Given the description of an element on the screen output the (x, y) to click on. 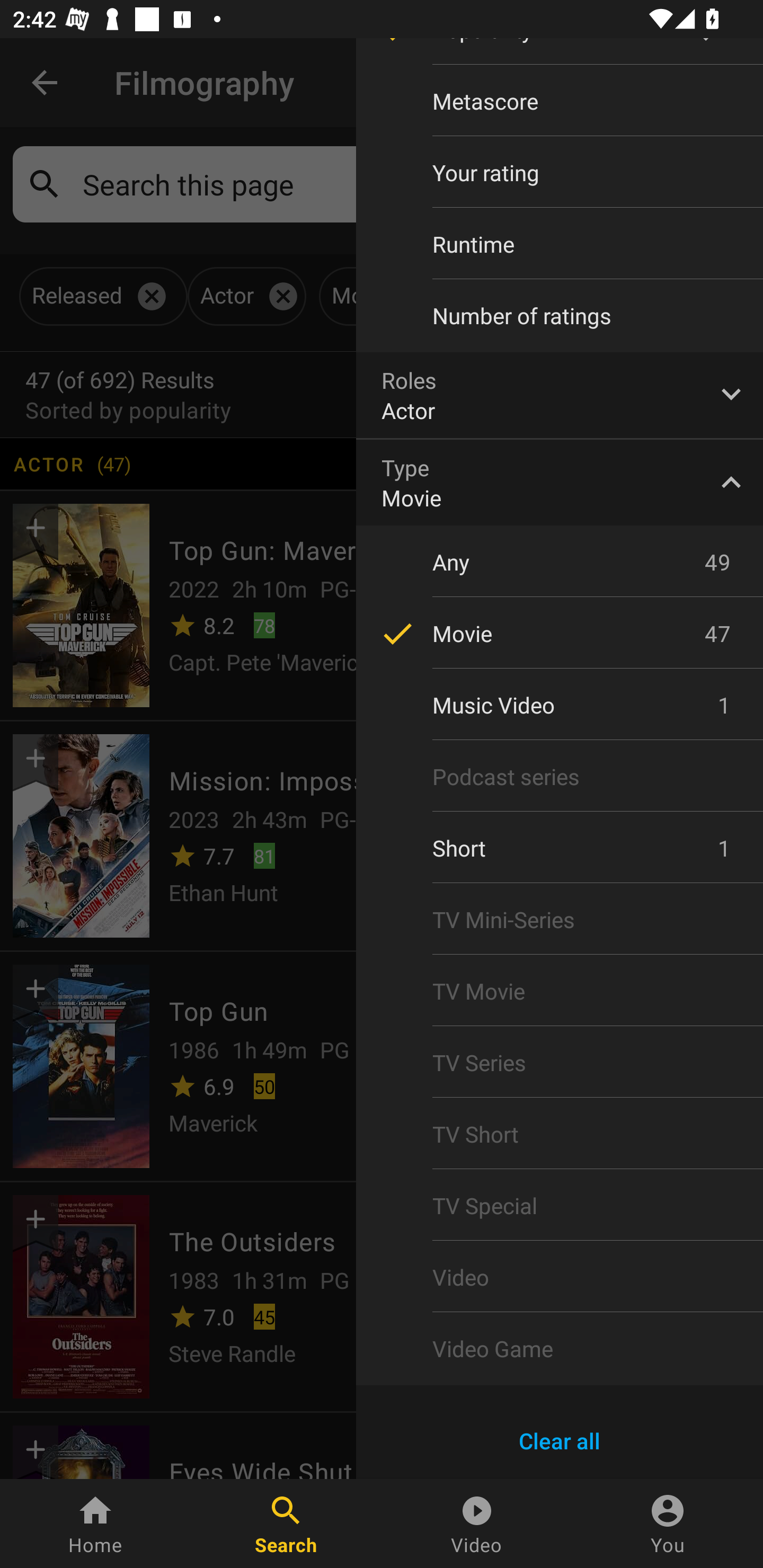
Metascore (559, 100)
Your rating (559, 171)
Runtime (559, 243)
Number of ratings (559, 315)
Roles Actor (559, 394)
Type Movie (559, 482)
Any 49 (559, 561)
Movie 47 (559, 632)
Music Video 1 (559, 704)
Short 1 (559, 847)
TV Mini-Series (559, 919)
TV Movie (559, 990)
TV Series (559, 1062)
TV Short (559, 1134)
TV Special (559, 1205)
Video (559, 1276)
Video Game (559, 1347)
Clear all (559, 1440)
Home (95, 1523)
Video (476, 1523)
You (667, 1523)
